Given the description of an element on the screen output the (x, y) to click on. 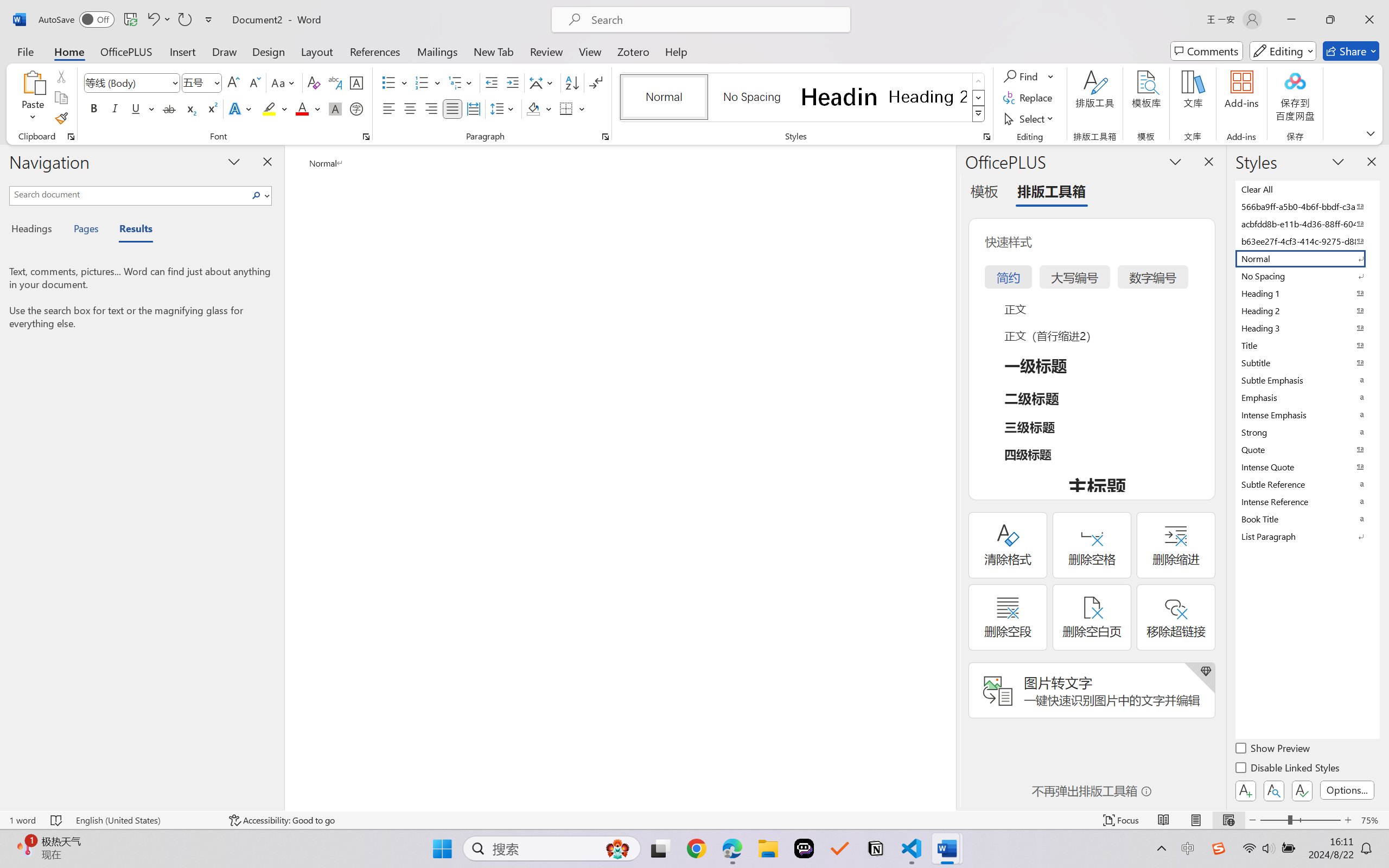
b63ee27f-4cf3-414c-9275-d88e3f90795e (1306, 240)
Character Border (356, 82)
Shrink Font (253, 82)
Styles (978, 113)
Font Color Red (302, 108)
Distributed (473, 108)
Show/Hide Editing Marks (595, 82)
Search (259, 195)
Undo Apply Quick Style (158, 19)
Language English (United States) (144, 819)
